Given the description of an element on the screen output the (x, y) to click on. 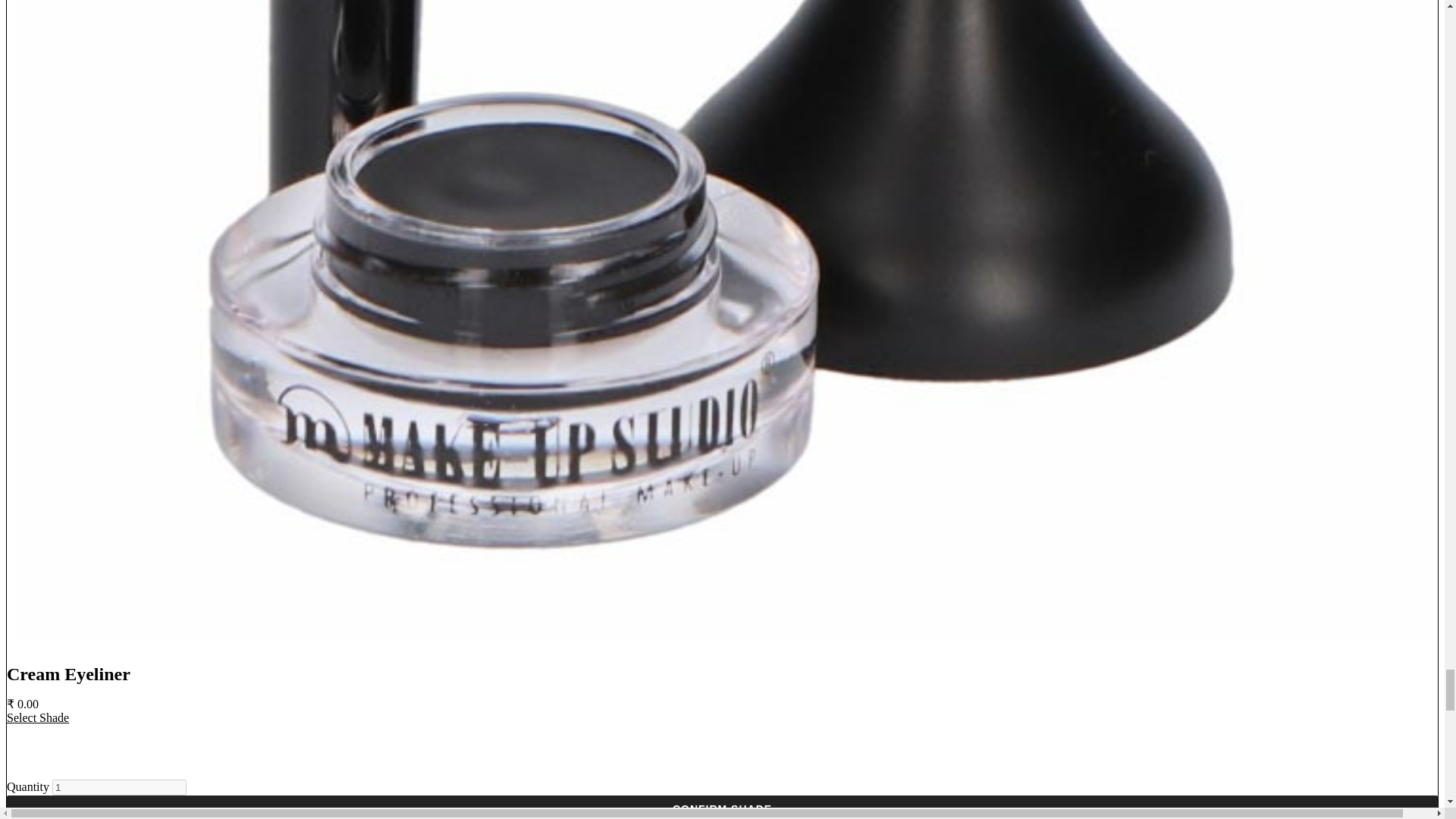
1 (119, 787)
